Given the description of an element on the screen output the (x, y) to click on. 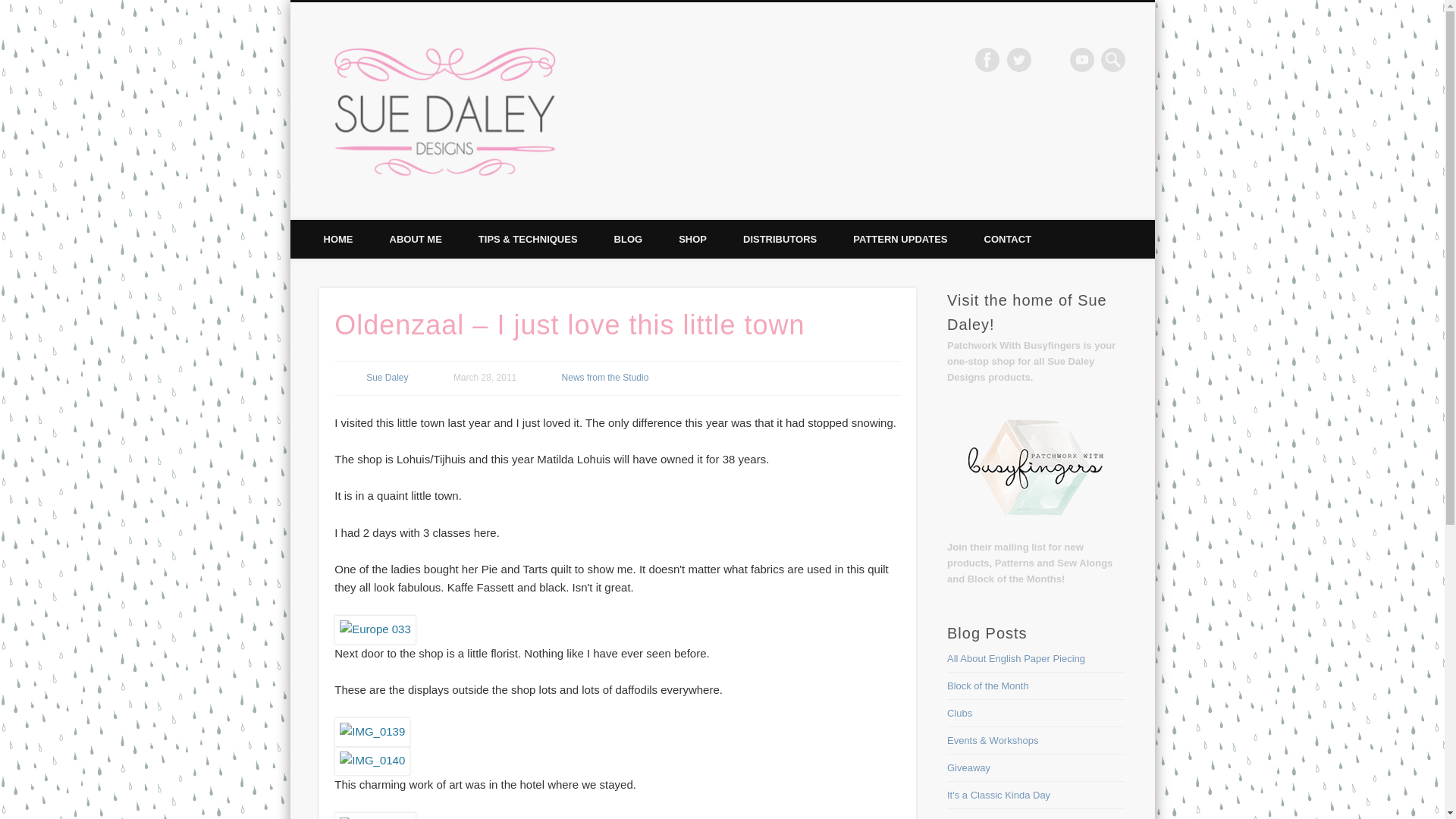
Sue Daley (386, 377)
Pinterest (1050, 59)
Sue Daley Designs Blog (709, 59)
Europe 033 (375, 629)
ABOUT ME (415, 239)
Facebook (986, 59)
Vimeo (1082, 59)
News from the Studio (605, 377)
Block of the Month (988, 685)
SHOP (693, 239)
